Given the description of an element on the screen output the (x, y) to click on. 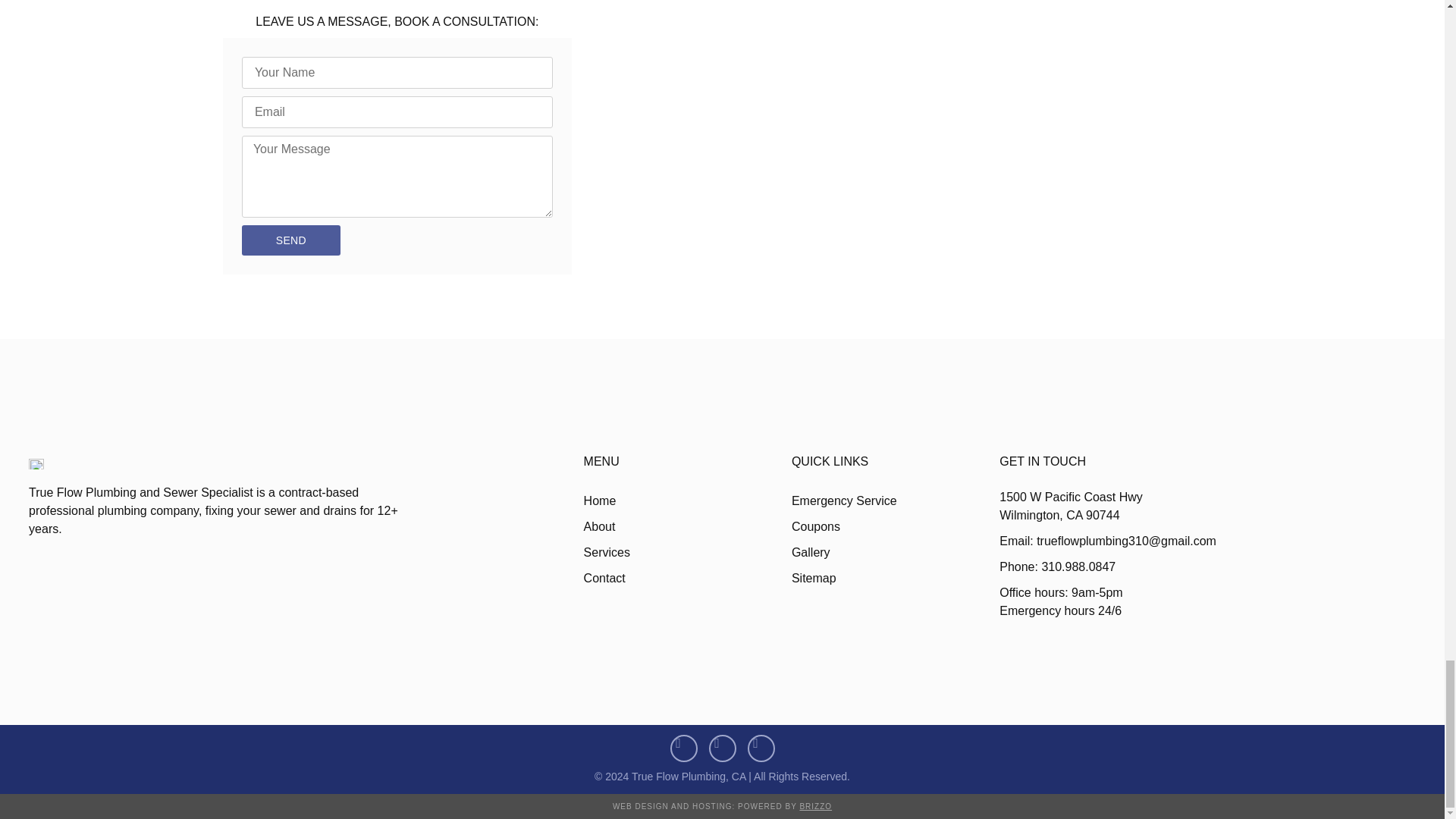
310.988.0847 (421, 0)
Home (687, 501)
Contact (687, 578)
SEND (290, 240)
Services (687, 552)
About (687, 526)
